Given the description of an element on the screen output the (x, y) to click on. 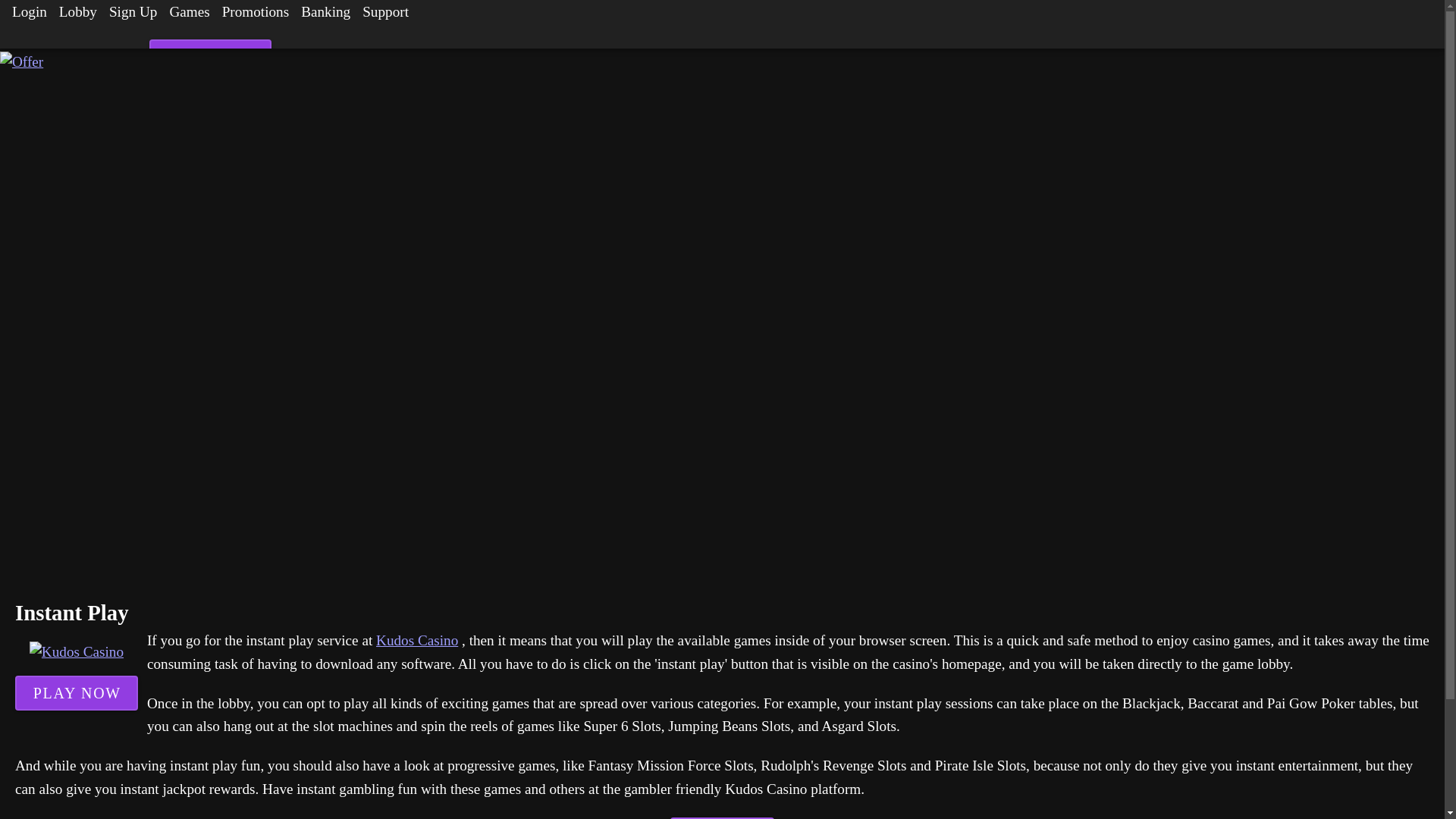
PLAY NOW (76, 692)
Login (28, 15)
PLAY NOW (721, 818)
Sign Up (133, 15)
Promotions (255, 15)
Banking (325, 15)
Games (189, 15)
Kudos Casino (416, 640)
Support (385, 15)
Lobby (77, 15)
PLAY NOW (210, 56)
